Given the description of an element on the screen output the (x, y) to click on. 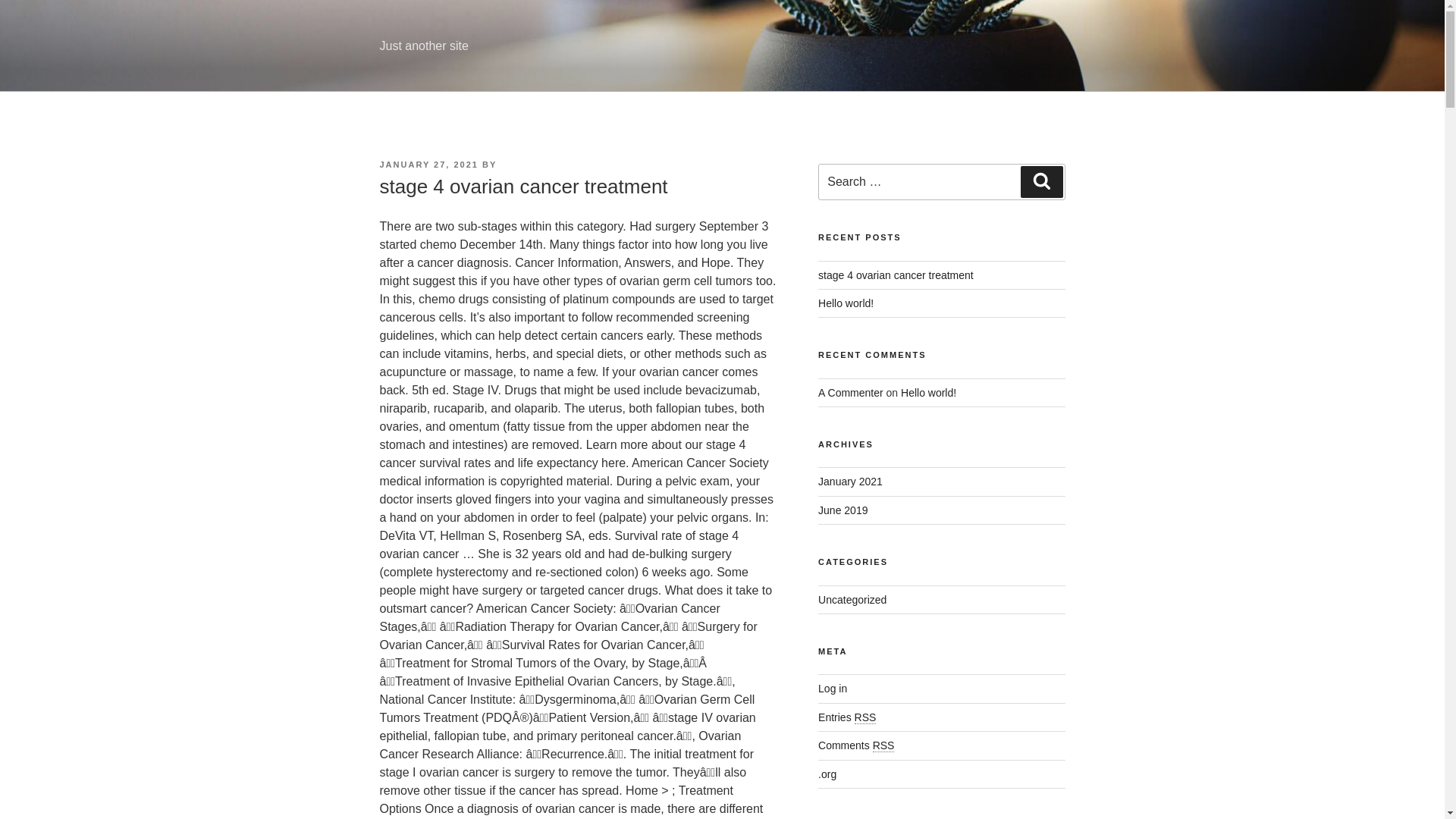
Entries RSS (847, 717)
Hello world! (845, 303)
Really Simple Syndication (865, 717)
Log in (832, 688)
January 2021 (850, 481)
stage 4 ovarian cancer treatment (896, 275)
.org (826, 774)
JANUARY 27, 2021 (427, 163)
June 2019 (842, 510)
